Given the description of an element on the screen output the (x, y) to click on. 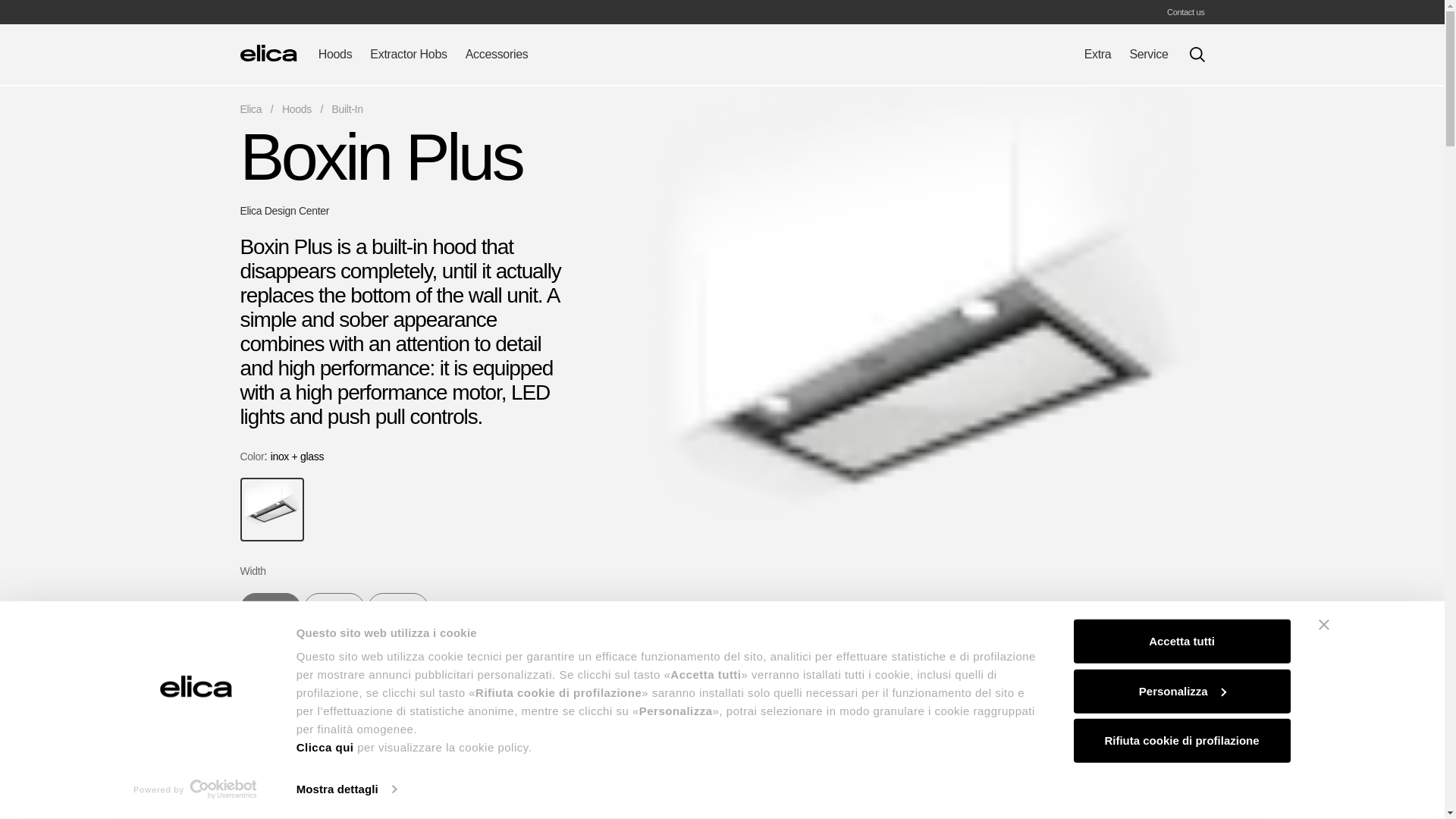
Clicca qui (325, 747)
Mostra dettagli (346, 789)
